Given the description of an element on the screen output the (x, y) to click on. 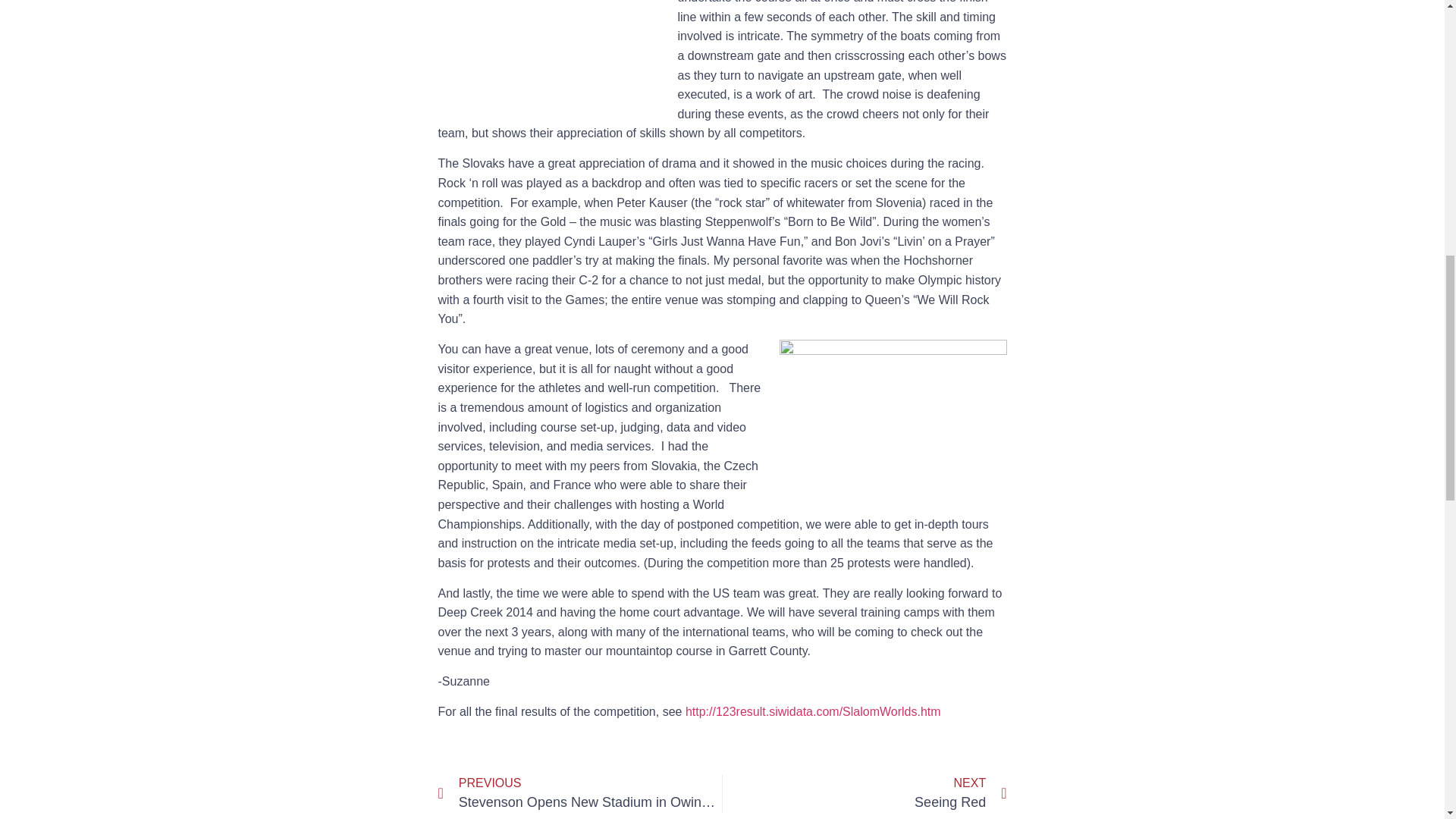
Fans (580, 793)
Big Screen (551, 59)
